Given the description of an element on the screen output the (x, y) to click on. 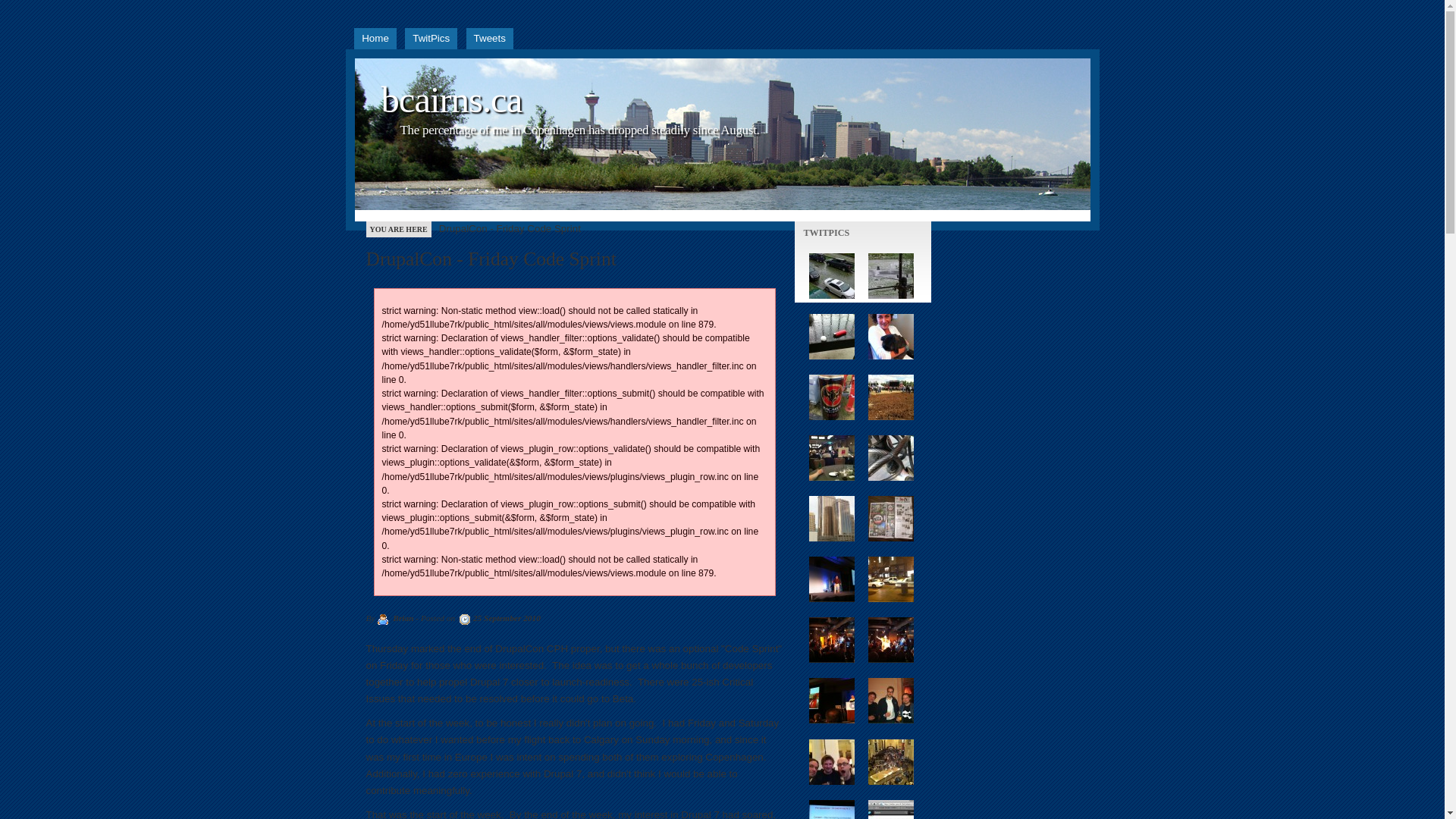
bcairns.ca Element type: text (450, 99)
Holy shit, inch+ hail in downtown #yyc Element type: hover (830, 336)
Office Bunny! Element type: hover (890, 336)
Me @quinnmerio and @hellofisher Element type: hover (830, 761)
Home Element type: text (375, 38)
Drupal shindig at the Chicago Field Museum #drupalconchi Element type: hover (890, 761)
I&#039;m scared and I want to go home. #drupalcon Element type: hover (830, 639)
RUM &amp; COKE IN A CAN! Element type: hover (830, 397)
The ground is white like Christmas, yo. Element type: hover (890, 275)
Untitled TwitPic - Mar 15, 2011 Element type: hover (890, 518)
Keynote by Mr. @cshirky Element type: hover (830, 700)
Final keynote, Jared Spool #drupalcon Element type: hover (830, 579)
Shit just officially got weird. #drupalcon Element type: hover (890, 639)
All the cabs in this city look like police cars #chicago Element type: hover (890, 579)
Tweets Element type: text (489, 38)
TwitPics Element type: text (430, 38)
